Given the description of an element on the screen output the (x, y) to click on. 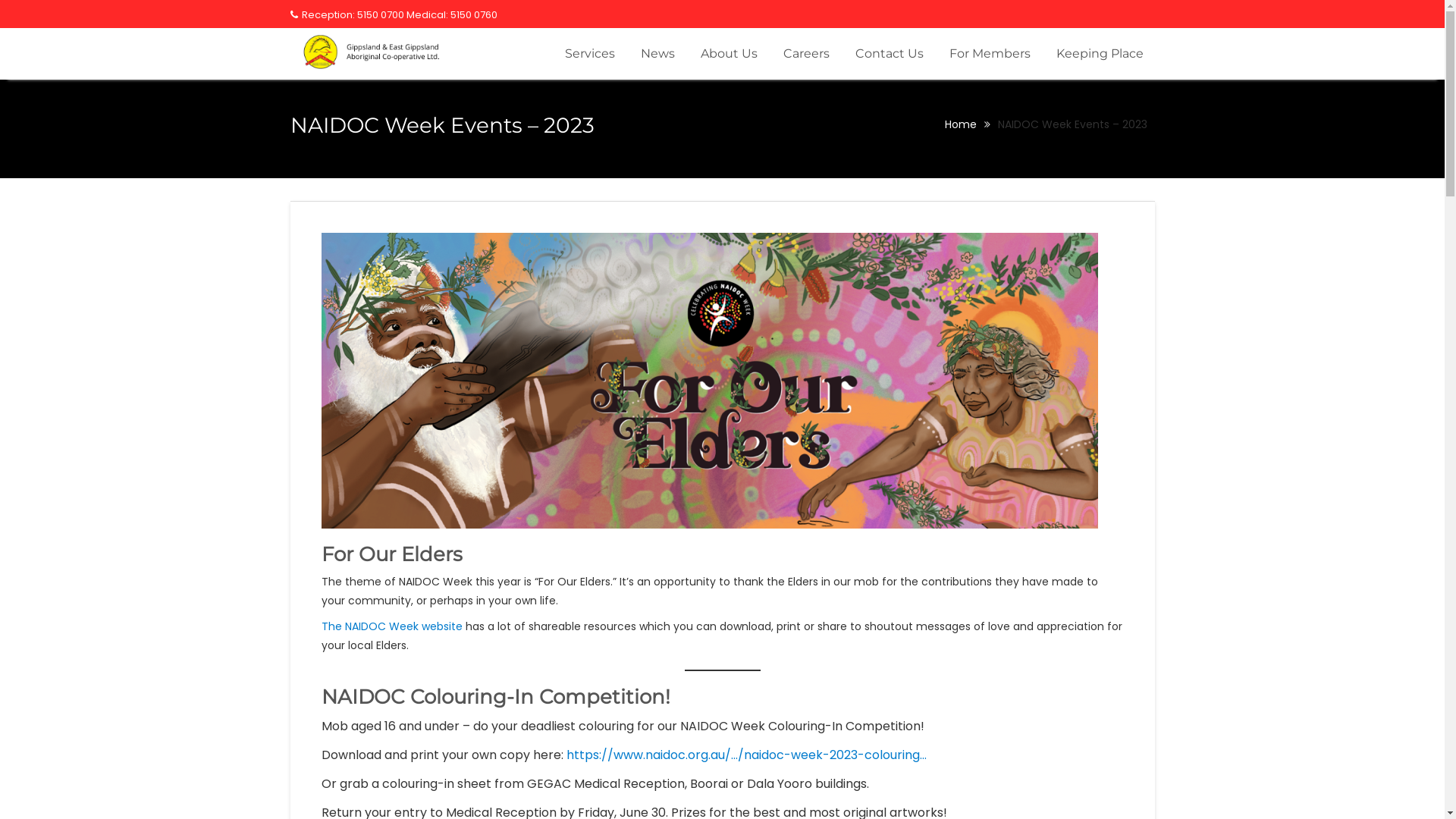
Keeping Place Element type: text (1099, 53)
Reception: 5150 0700 Medical: 5150 0760 Element type: text (392, 15)
For Members Element type: text (989, 53)
Careers Element type: text (805, 53)
Services Element type: text (589, 53)
News Element type: text (657, 53)
The NAIDOC Week website Element type: text (391, 625)
Contact Us Element type: text (888, 53)
Home Element type: text (960, 124)
About Us Element type: text (728, 53)
